Given the description of an element on the screen output the (x, y) to click on. 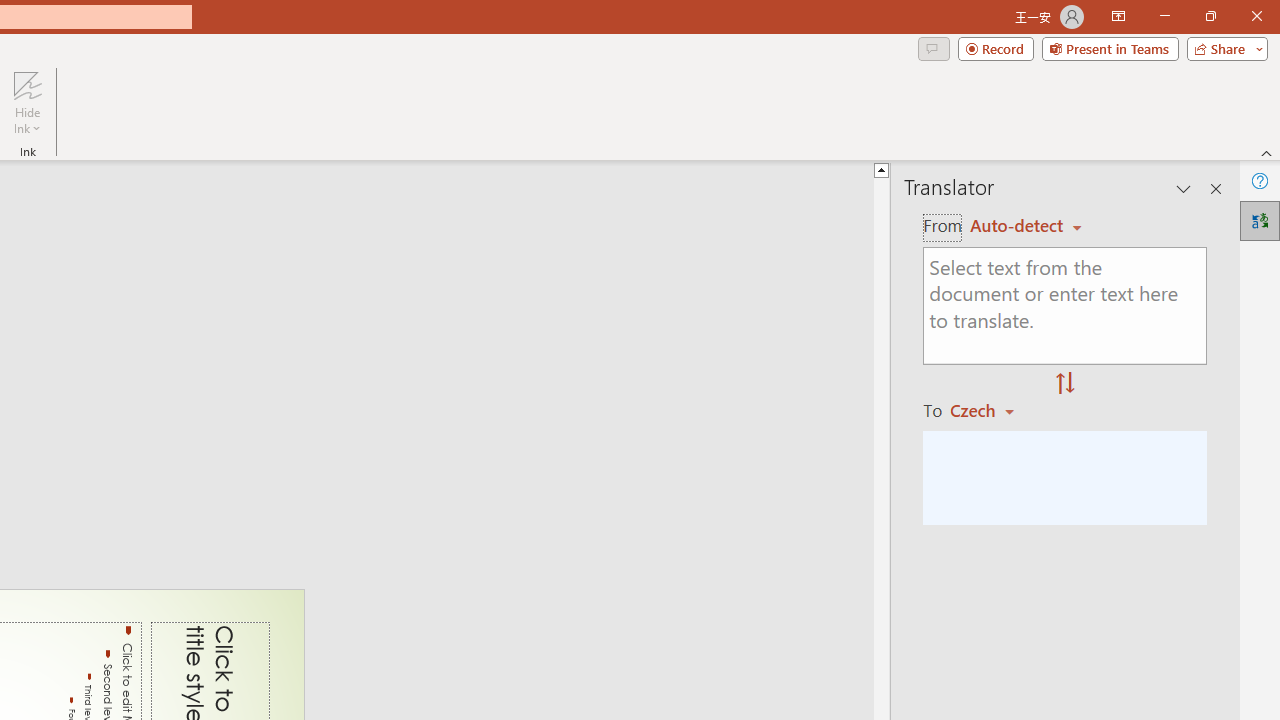
Czech (991, 409)
English (1025, 225)
